Given the description of an element on the screen output the (x, y) to click on. 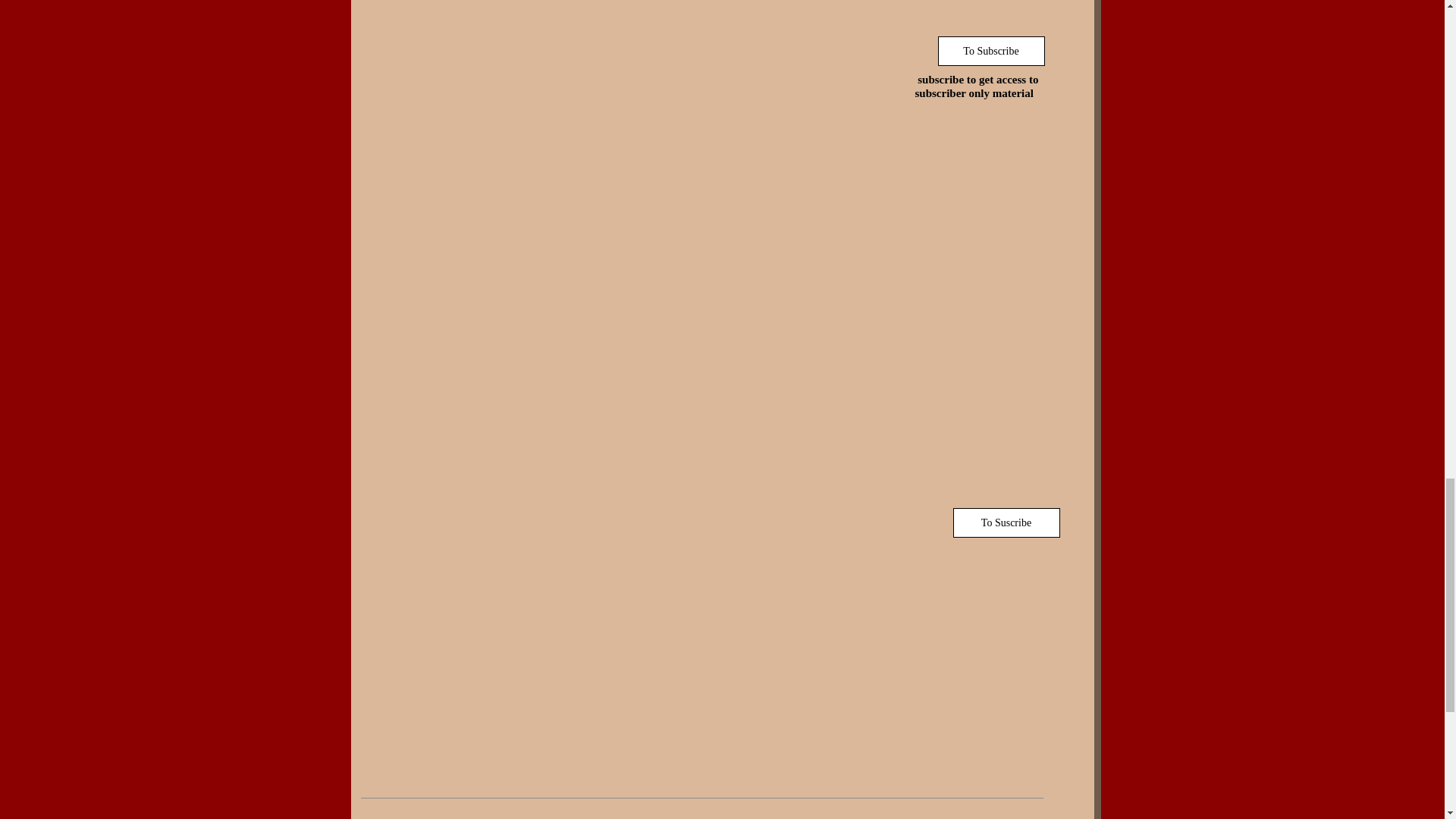
To Subscribe (990, 51)
To Suscribe (1005, 522)
